Given the description of an element on the screen output the (x, y) to click on. 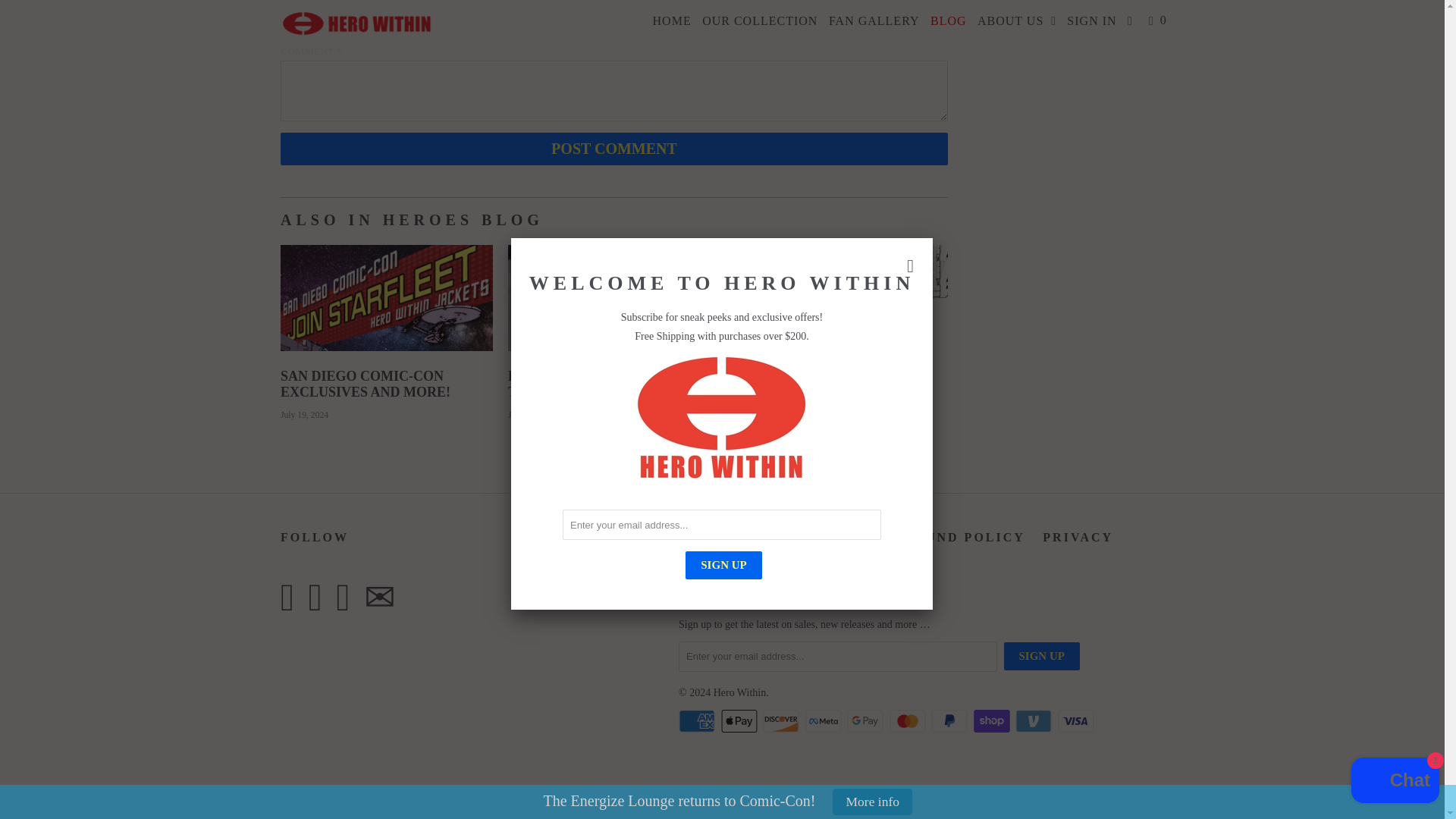
Post comment (614, 148)
